Given the description of an element on the screen output the (x, y) to click on. 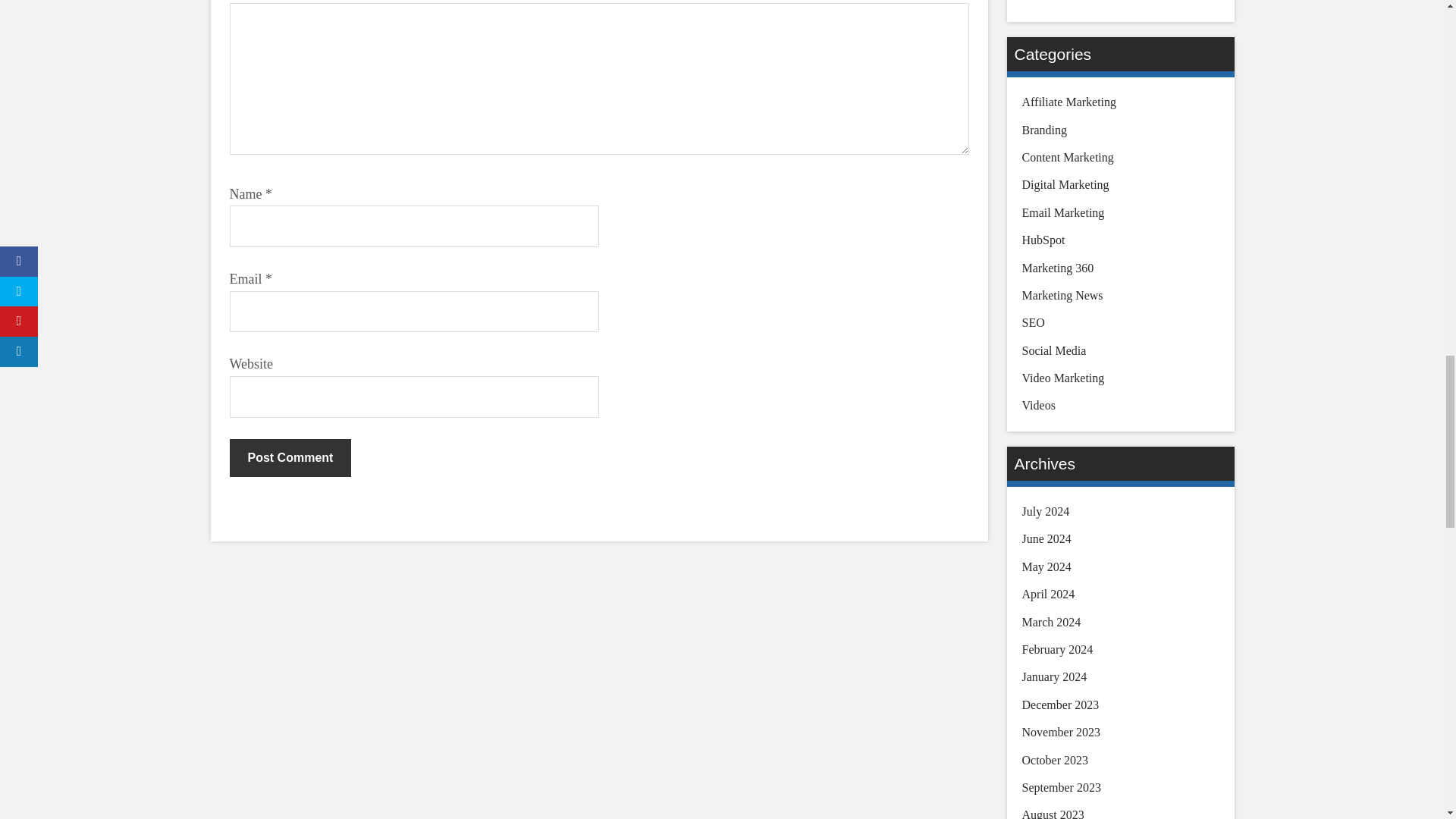
Post Comment (289, 457)
